Given the description of an element on the screen output the (x, y) to click on. 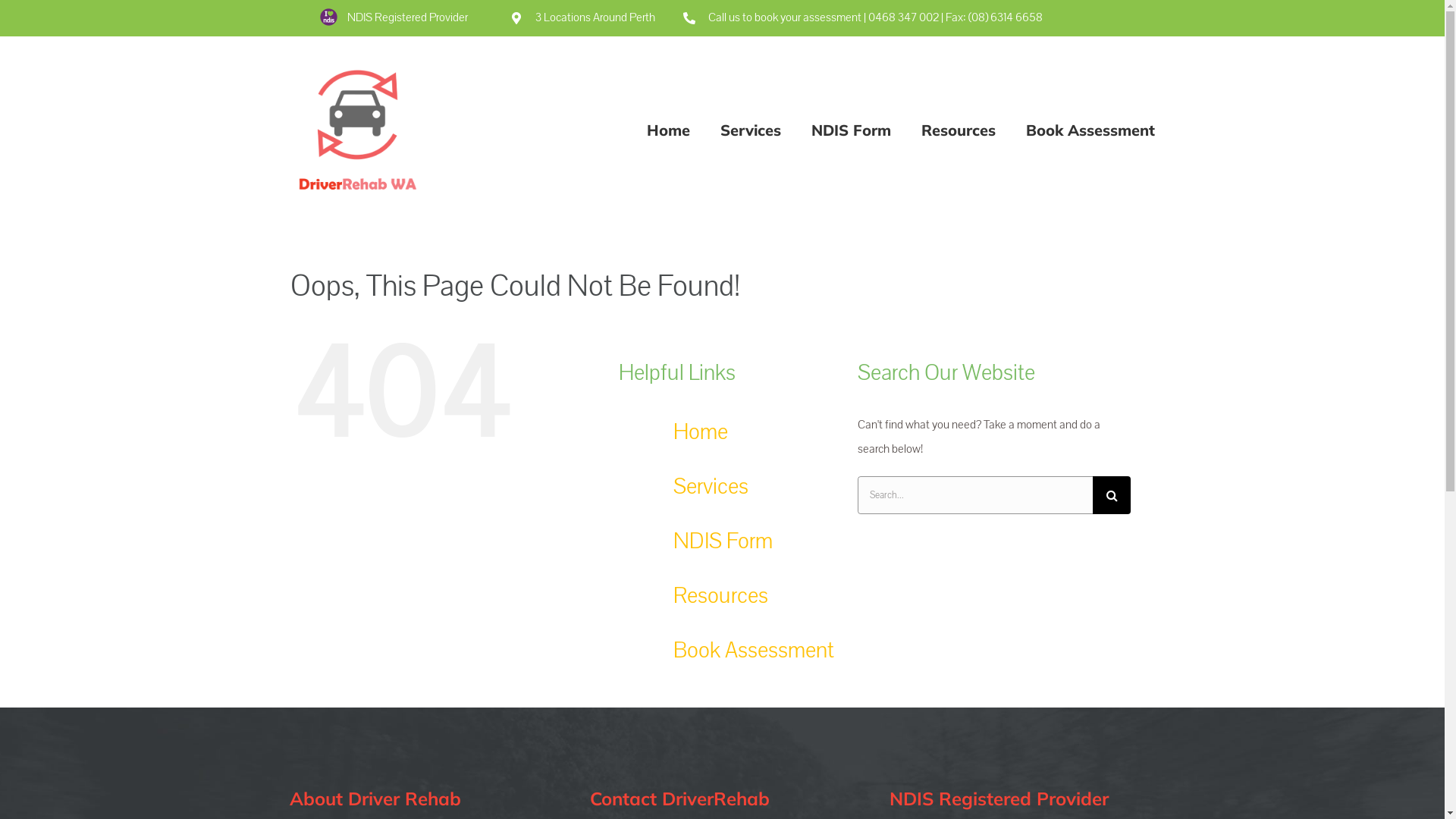
Home Element type: text (700, 431)
NDIS Form Element type: text (722, 540)
Resources Element type: text (720, 595)
Book Assessment Element type: text (753, 650)
Services Element type: text (750, 128)
Book Assessment Element type: text (1089, 128)
0468 347 002 Element type: text (903, 17)
NDIS Form Element type: text (851, 128)
Resources Element type: text (957, 128)
Home Element type: text (667, 128)
Services Element type: text (710, 486)
